Given the description of an element on the screen output the (x, y) to click on. 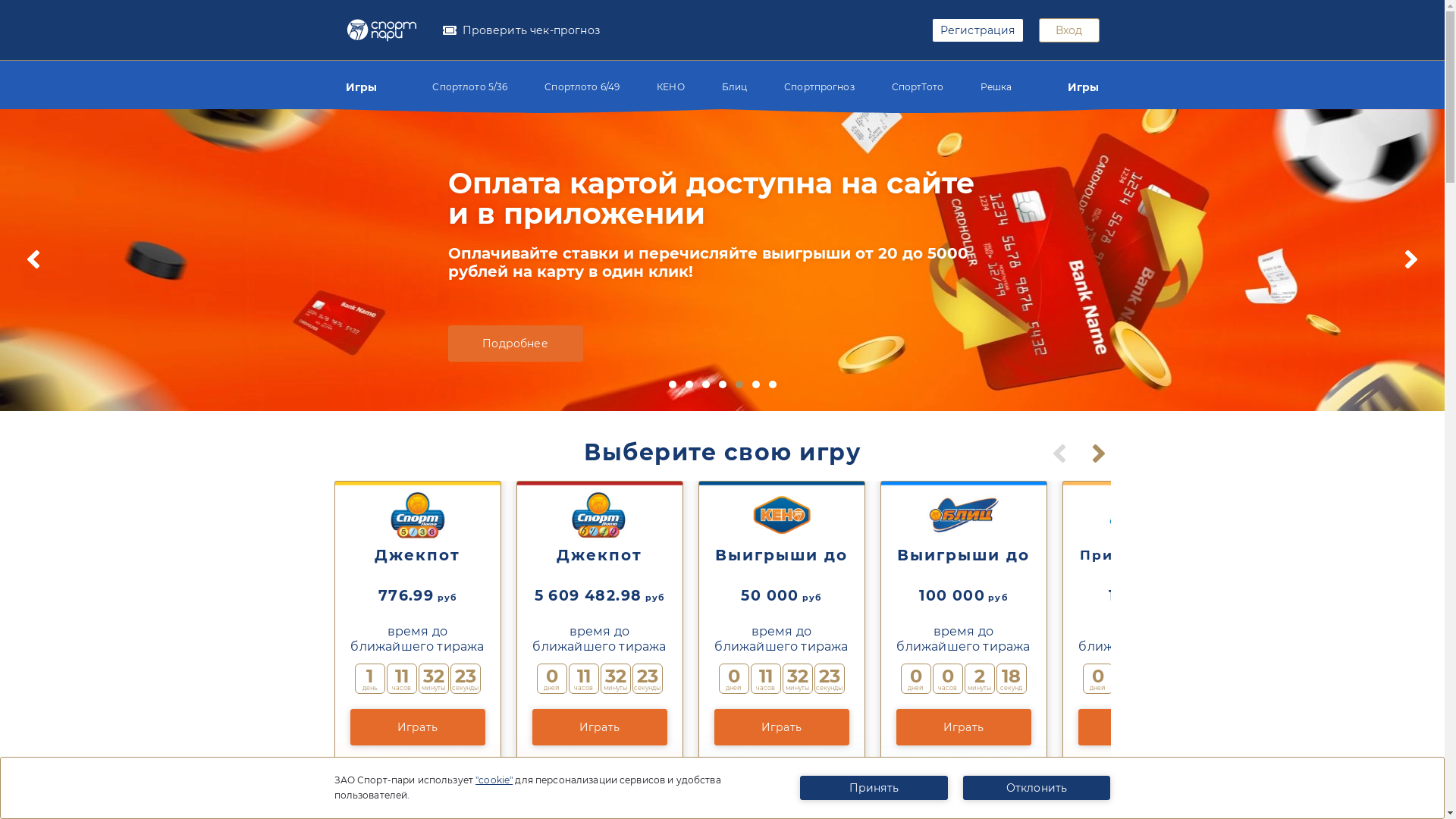
"cookie" Element type: text (493, 780)
